Given the description of an element on the screen output the (x, y) to click on. 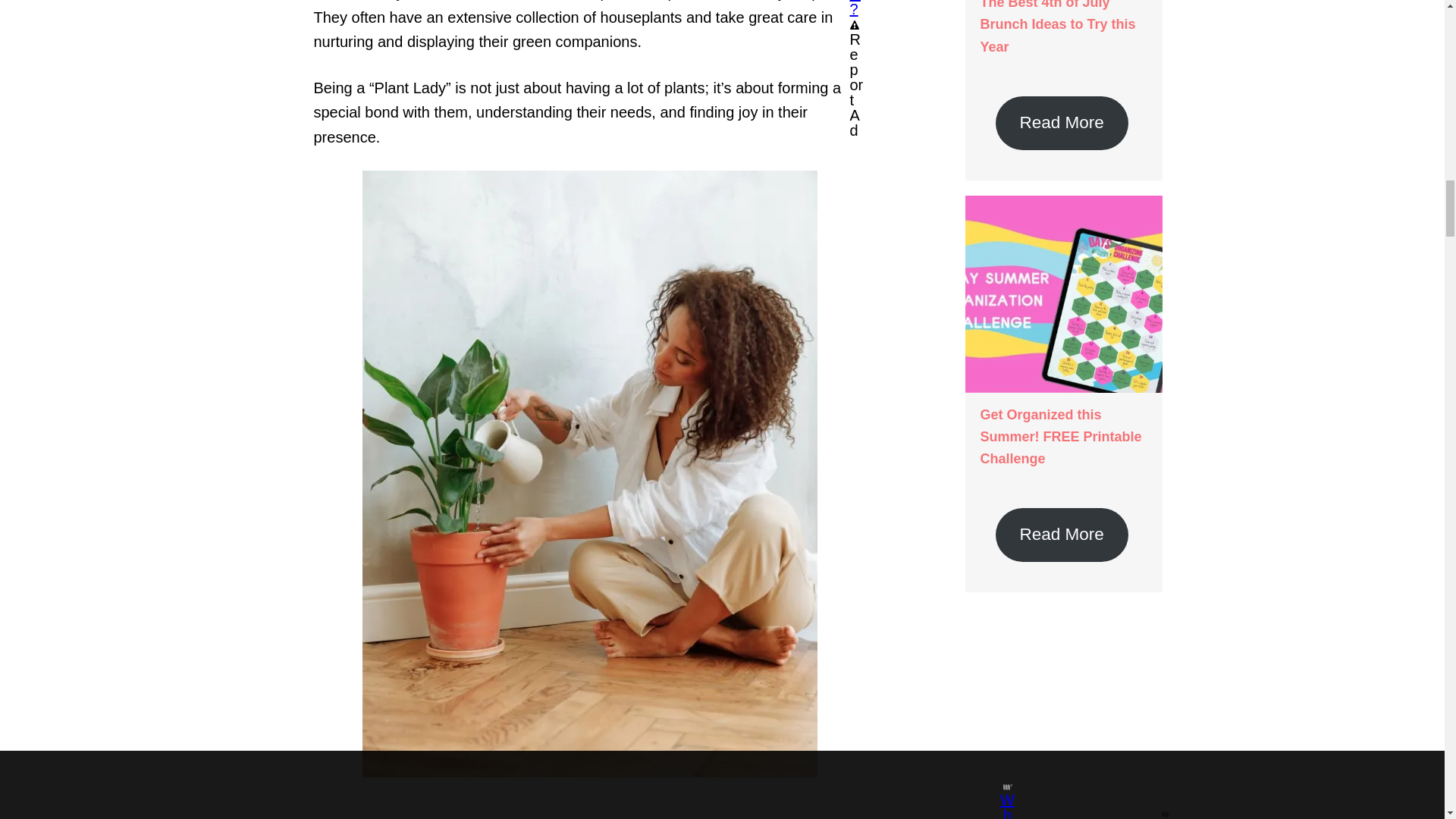
3rd party ad content (1062, 709)
